Given the description of an element on the screen output the (x, y) to click on. 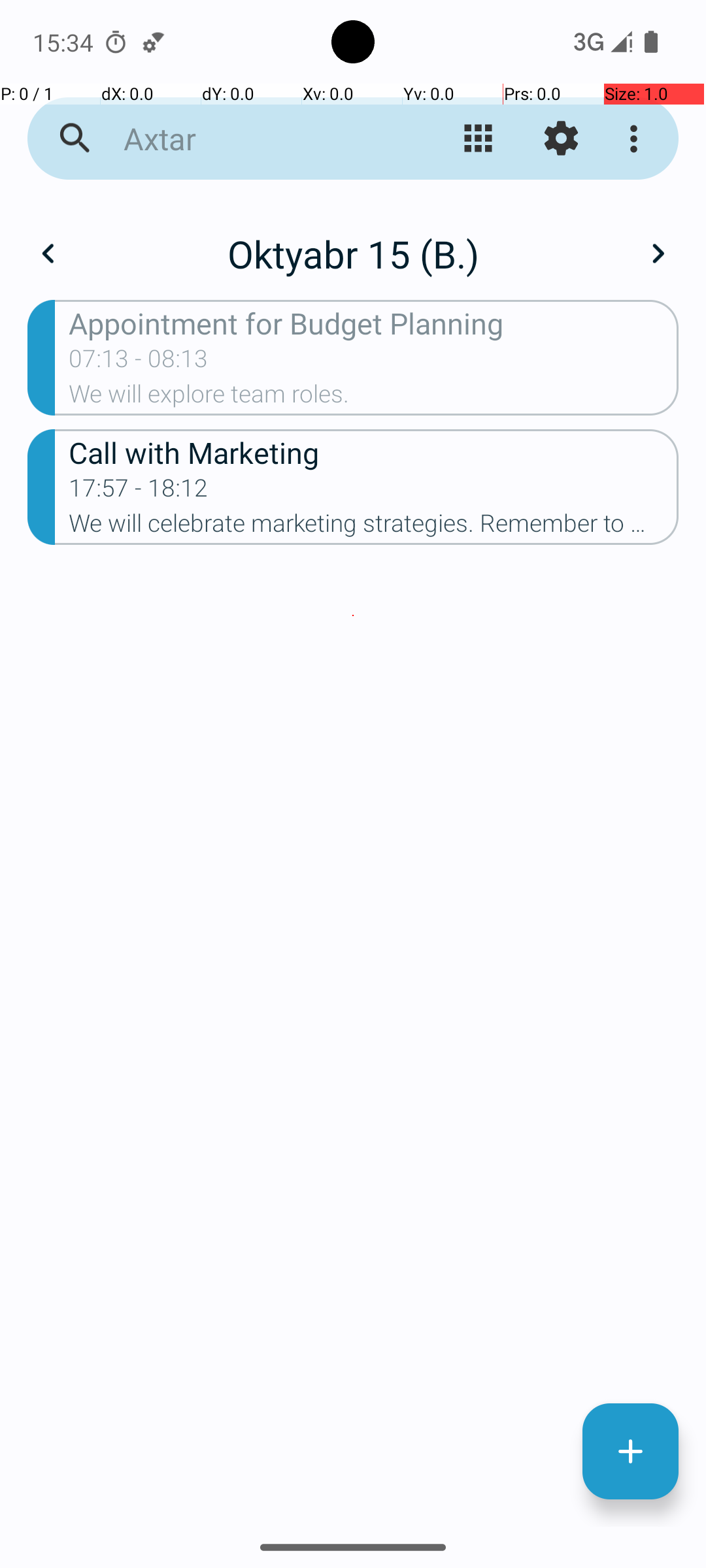
Axtar Element type: android.widget.EditText (252, 138)
Görünüşü dəyiş Element type: android.widget.Button (477, 138)
Oktyabr 15 (B.) Element type: android.widget.TextView (352, 253)
07:13 - 08:13 Element type: android.widget.TextView (137, 362)
We will explore team roles. Element type: android.widget.TextView (373, 397)
17:57 - 18:12 Element type: android.widget.TextView (137, 491)
We will celebrate marketing strategies. Remember to confirm attendance. Element type: android.widget.TextView (373, 526)
